Given the description of an element on the screen output the (x, y) to click on. 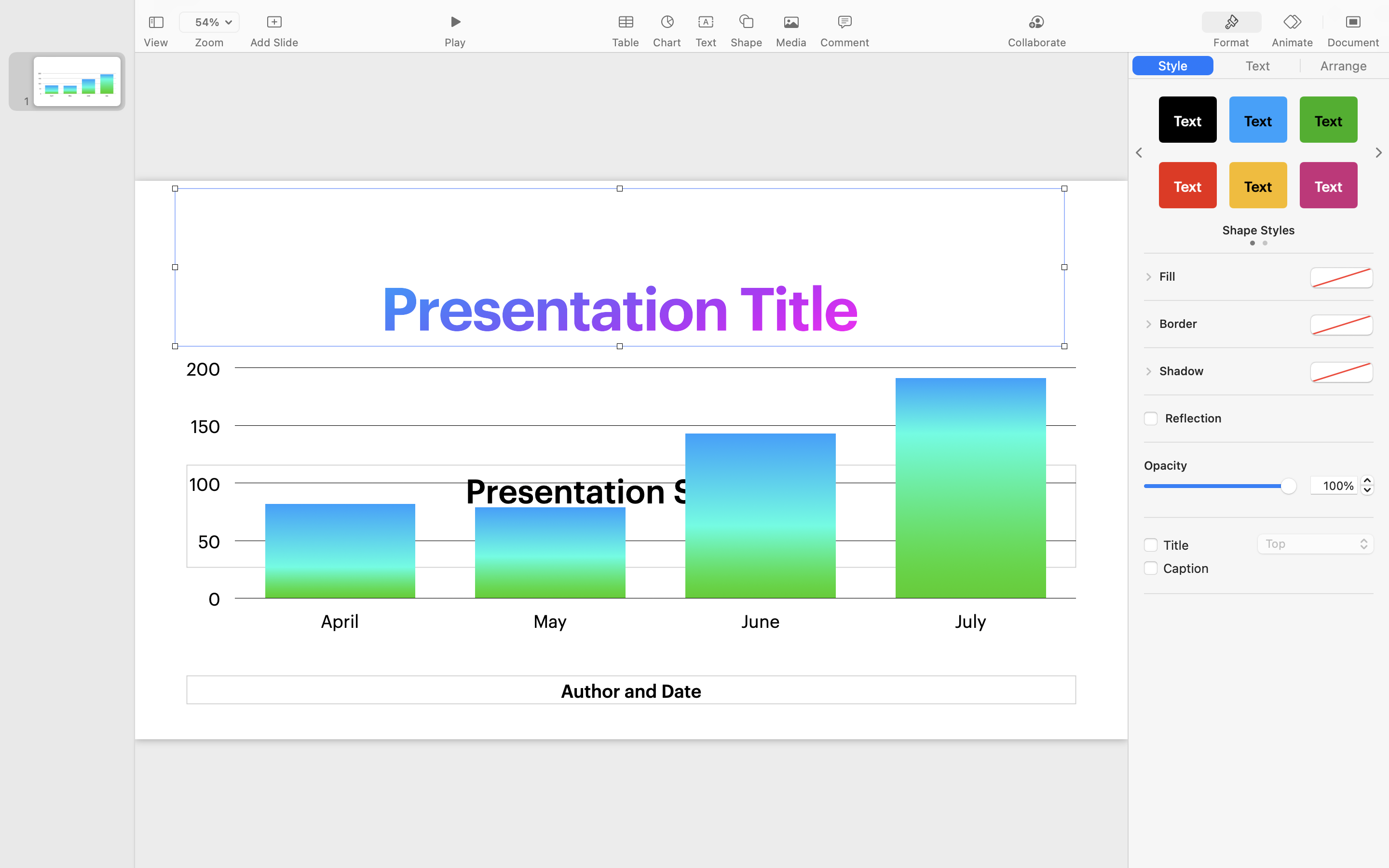
<AXUIElement 0x1216da790> {pid=1697} Element type: AXRadioGroup (1258, 65)
